Given the description of an element on the screen output the (x, y) to click on. 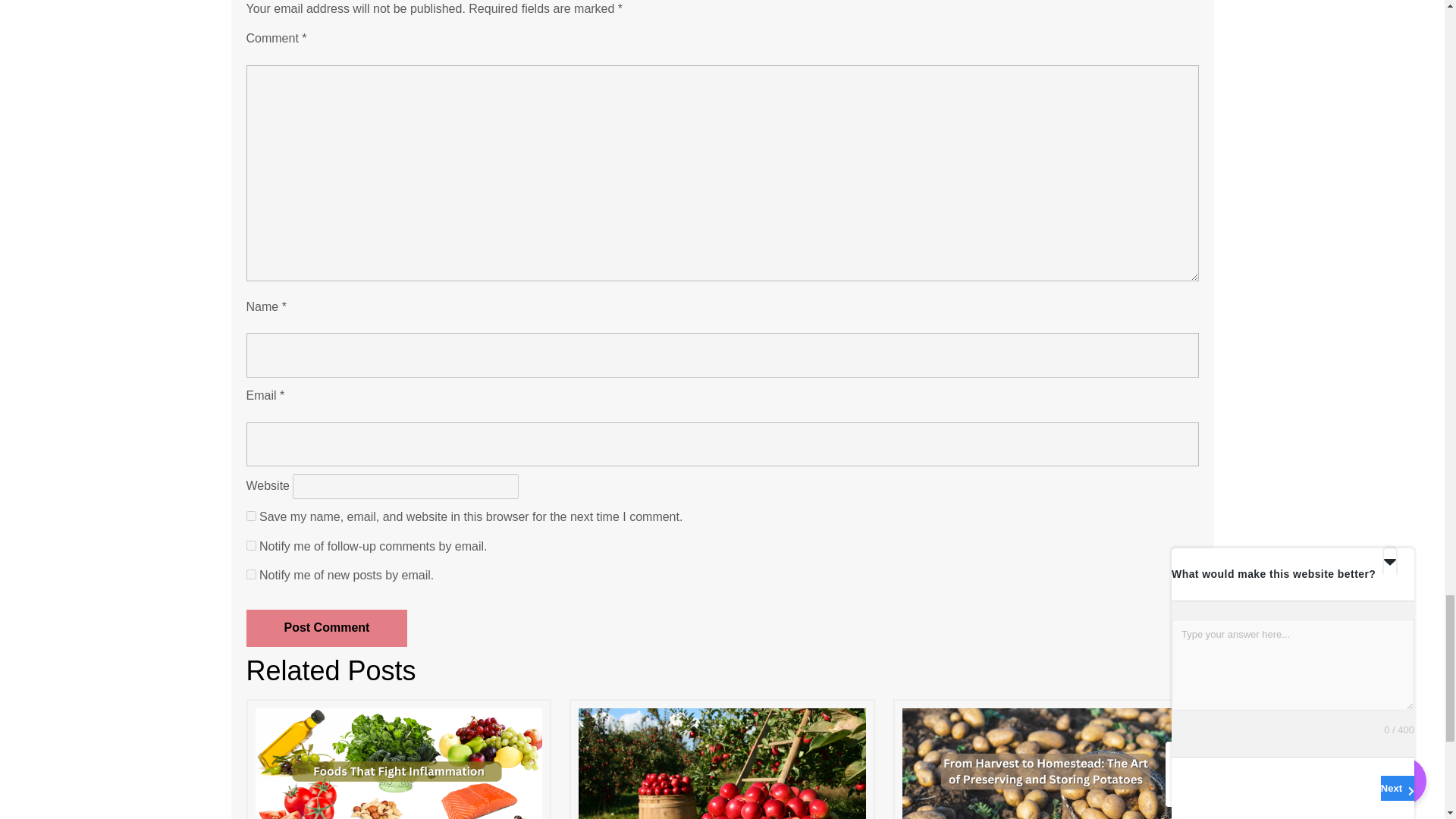
subscribe (251, 545)
Post Comment (326, 628)
yes (251, 515)
subscribe (251, 574)
Post Comment (326, 628)
